Given the description of an element on the screen output the (x, y) to click on. 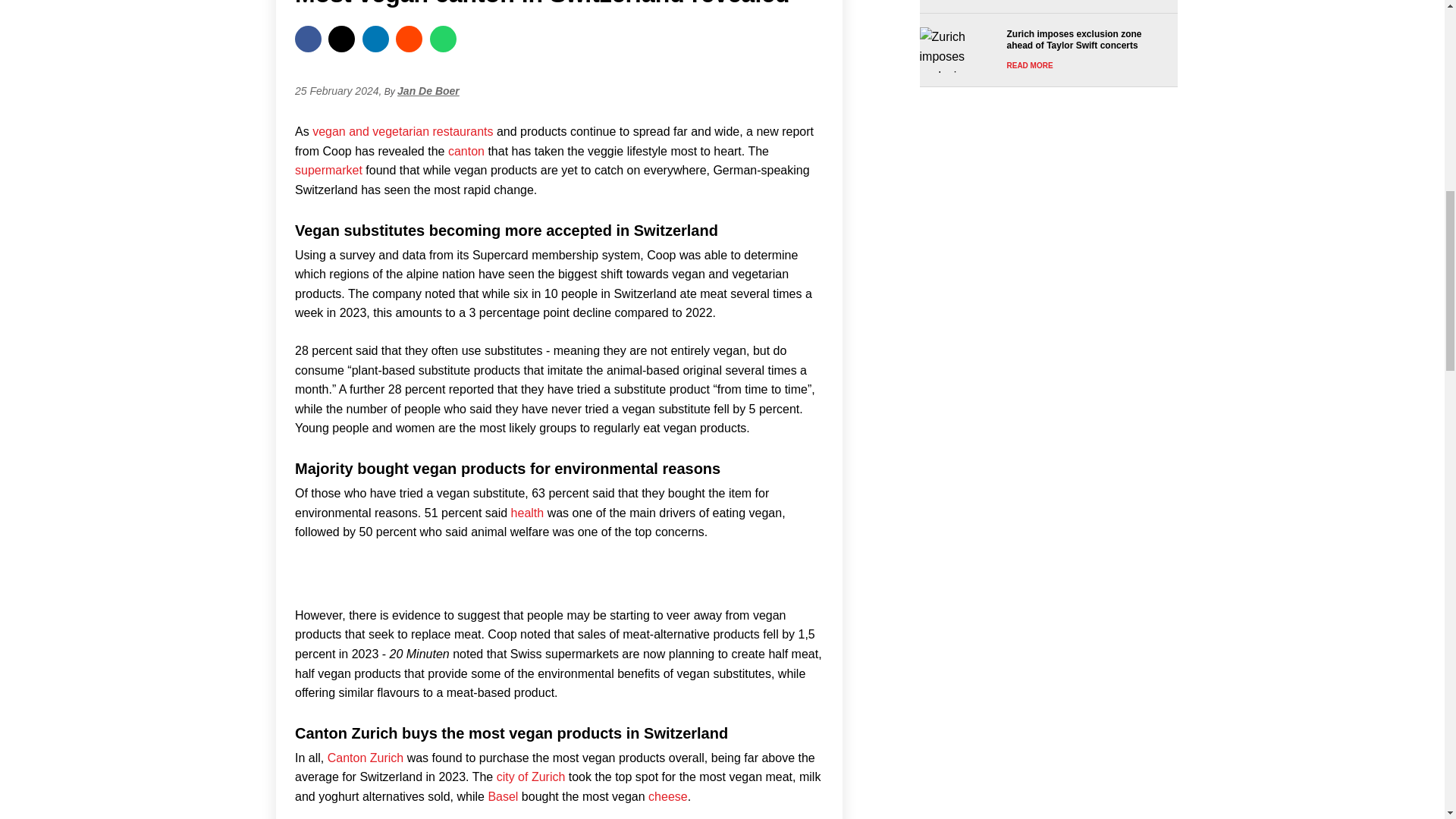
Zurich imposes exclusion zone ahead of Taylor Swift concerts (1043, 49)
